Given the description of an element on the screen output the (x, y) to click on. 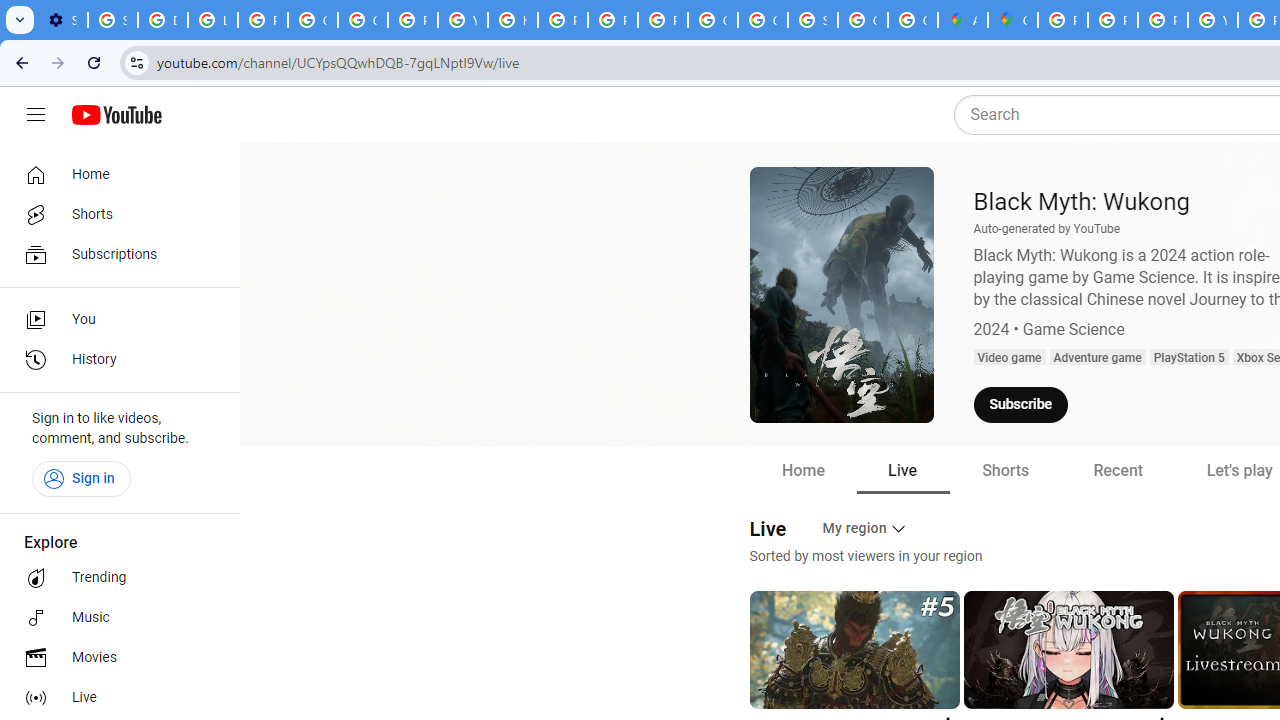
My region (866, 528)
Google Account Help (312, 20)
PlayStation 5 (1188, 358)
Music (113, 617)
Adventure game (1097, 358)
Subscriptions (113, 254)
Delete photos & videos - Computer - Google Photos Help (163, 20)
